Given the description of an element on the screen output the (x, y) to click on. 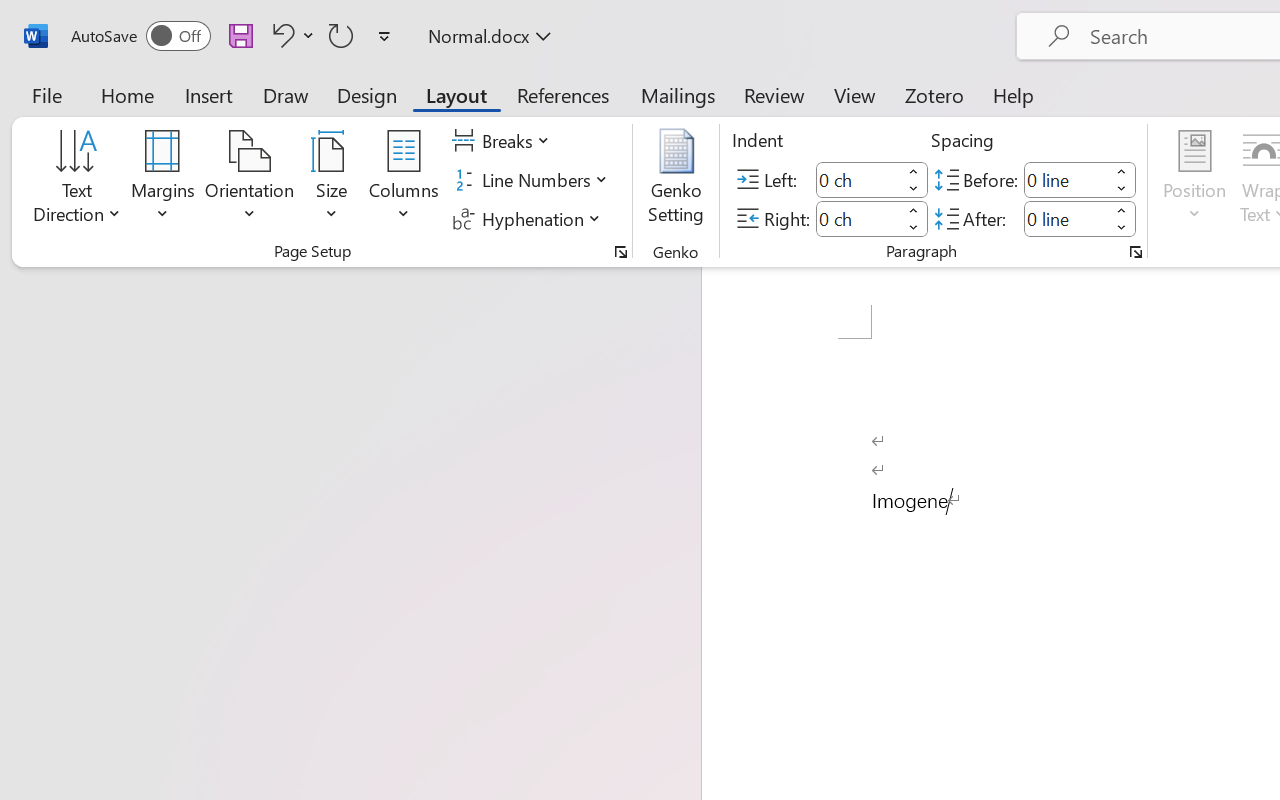
Genko Setting... (676, 179)
Breaks (504, 141)
More (1121, 210)
Indent Left (858, 179)
Text Direction (77, 179)
Paragraph... (1135, 252)
Hyphenation (529, 218)
